Given the description of an element on the screen output the (x, y) to click on. 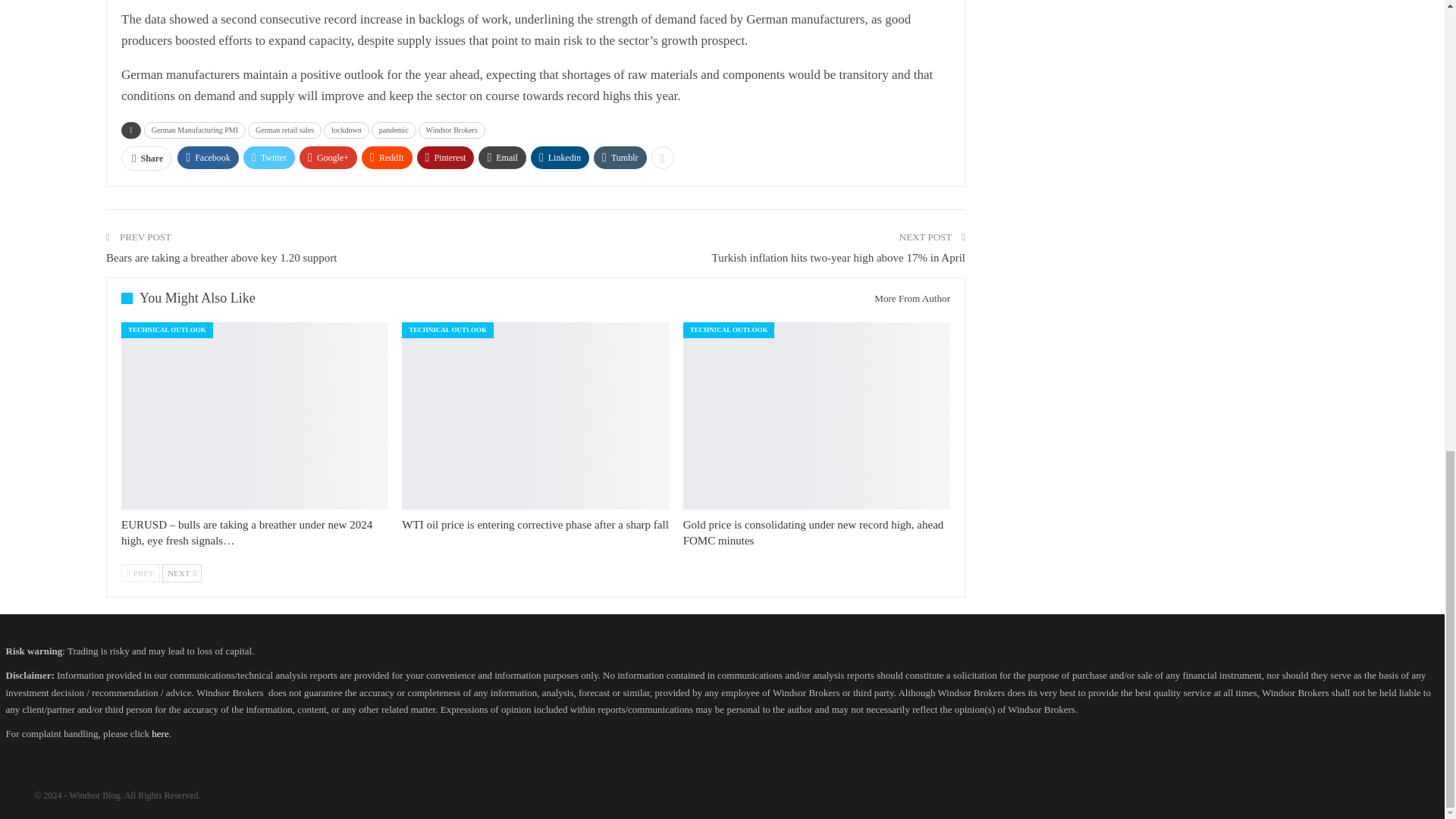
Next (181, 573)
Previous (140, 573)
